Given the description of an element on the screen output the (x, y) to click on. 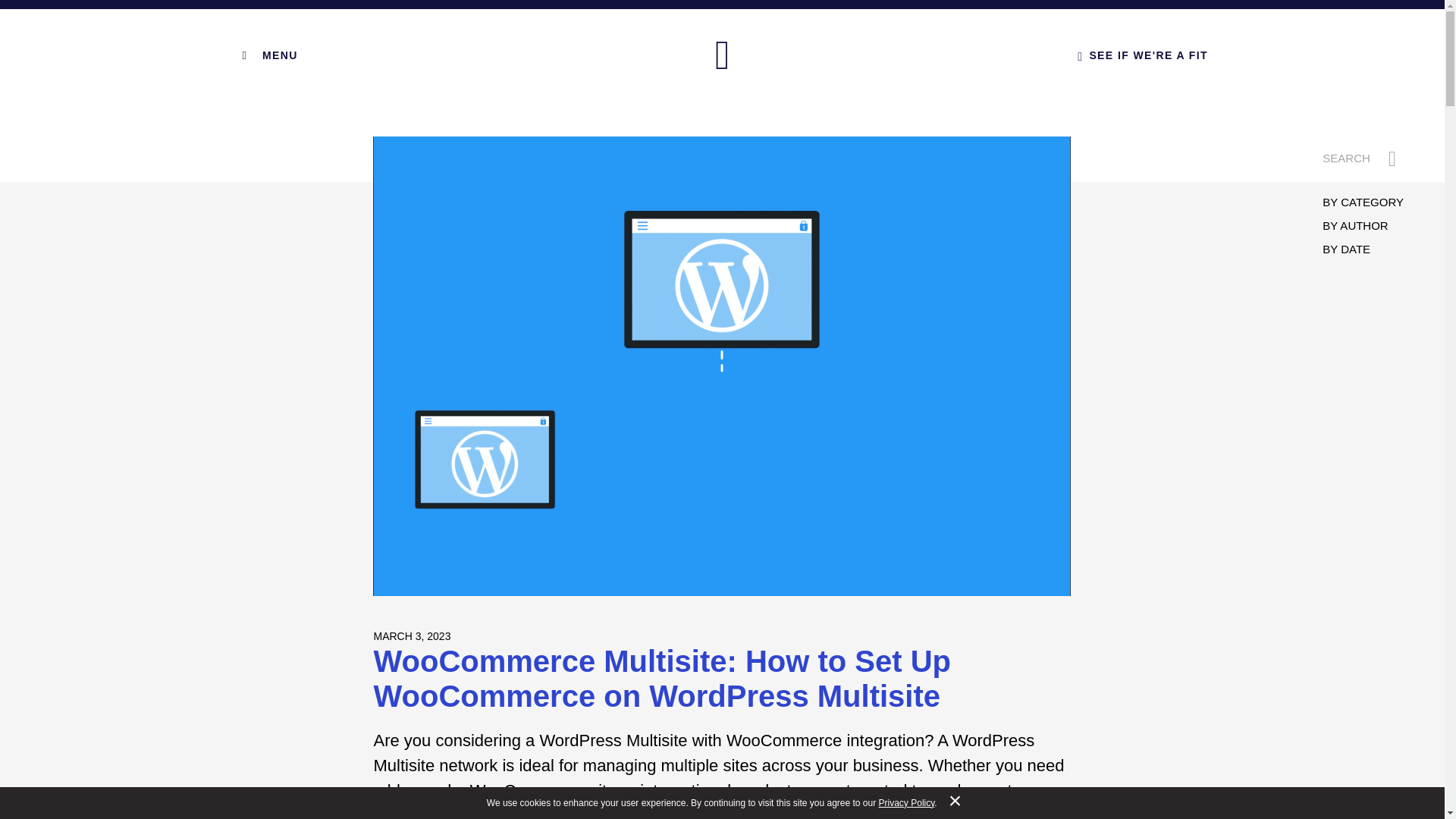
MARCH 3, 2023 (410, 635)
MENU (266, 54)
SEE IF WE'RE A FIT (1142, 54)
